Given the description of an element on the screen output the (x, y) to click on. 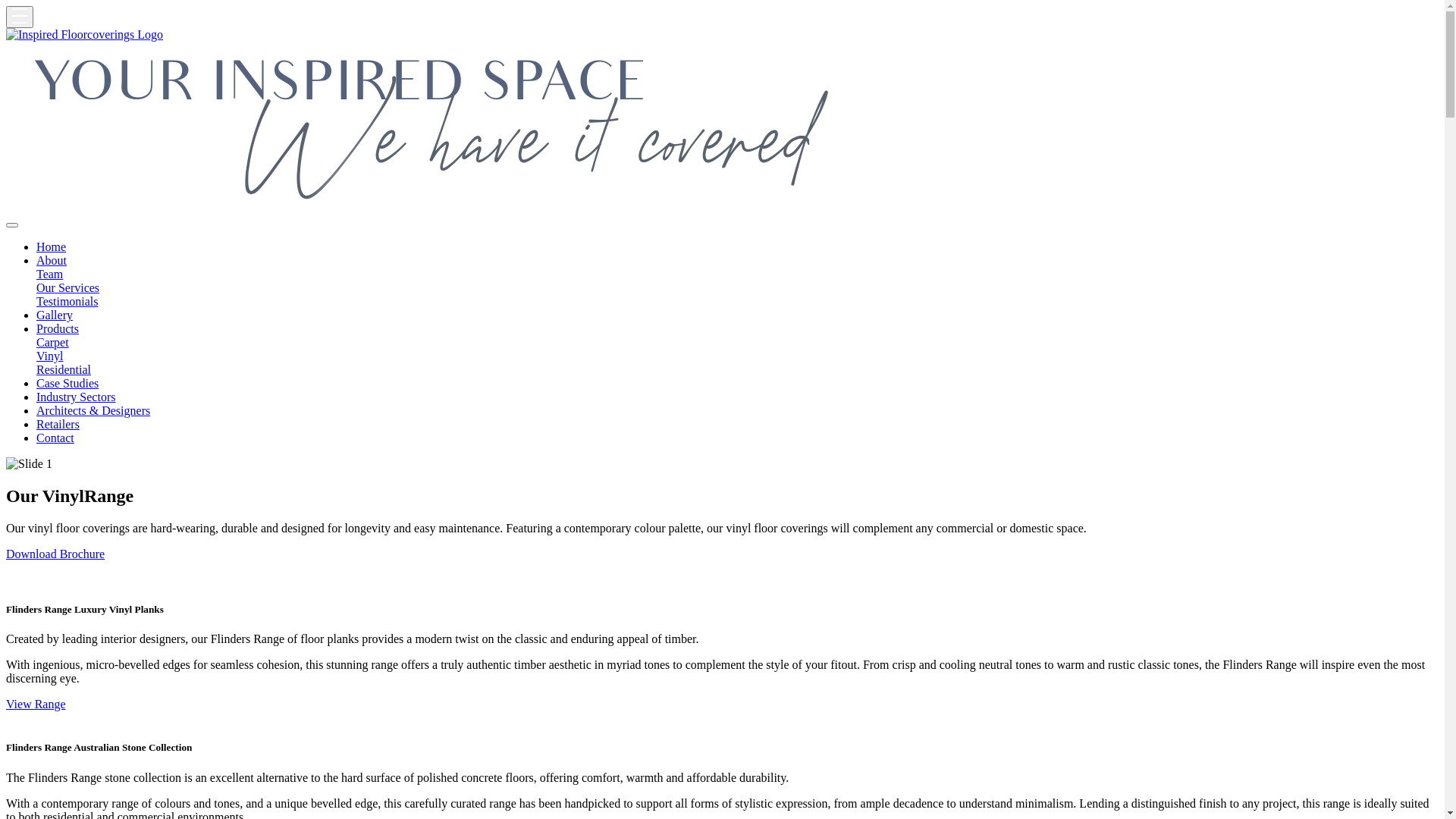
Products Element type: text (57, 328)
Vinyl Element type: text (737, 356)
Download Brochure Element type: text (55, 553)
Architects & Designers Element type: text (93, 410)
Retailers Element type: text (57, 423)
Residential Element type: text (737, 369)
Team Element type: text (737, 274)
View Range Element type: text (35, 703)
Our Services Element type: text (737, 287)
Home Element type: text (50, 246)
Testimonials Element type: text (737, 301)
Gallery Element type: text (54, 314)
Slide 1 Element type: hover (29, 463)
Carpet Element type: text (737, 342)
About Element type: text (51, 260)
Contact Element type: text (55, 437)
Case Studies Element type: text (67, 382)
Industry Sectors Element type: text (75, 396)
